Given the description of an element on the screen output the (x, y) to click on. 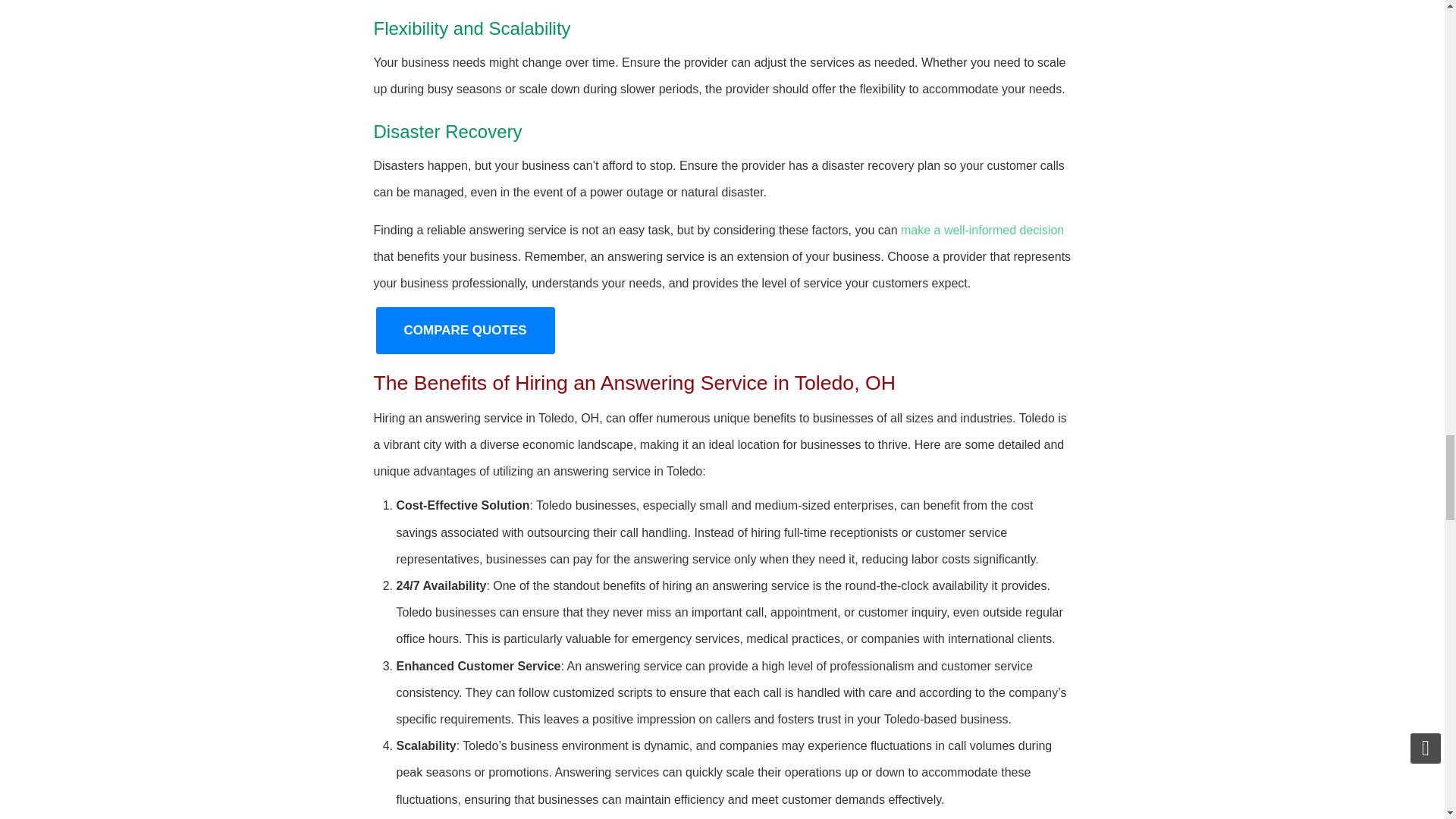
COMPARE QUOTES (464, 329)
